Given the description of an element on the screen output the (x, y) to click on. 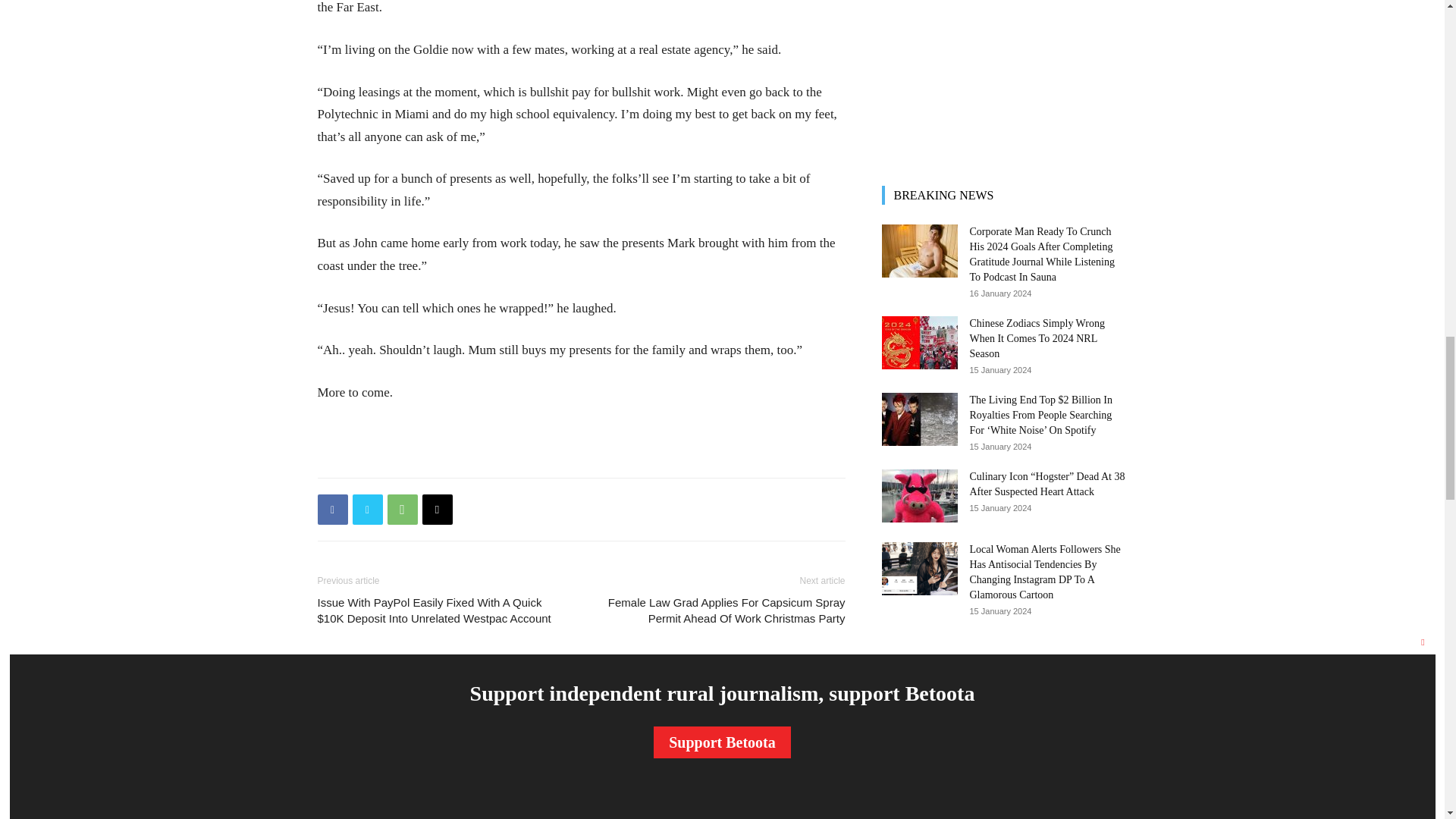
Email (436, 509)
WhatsApp (401, 509)
Facebook (332, 509)
Twitter (366, 509)
